Given the description of an element on the screen output the (x, y) to click on. 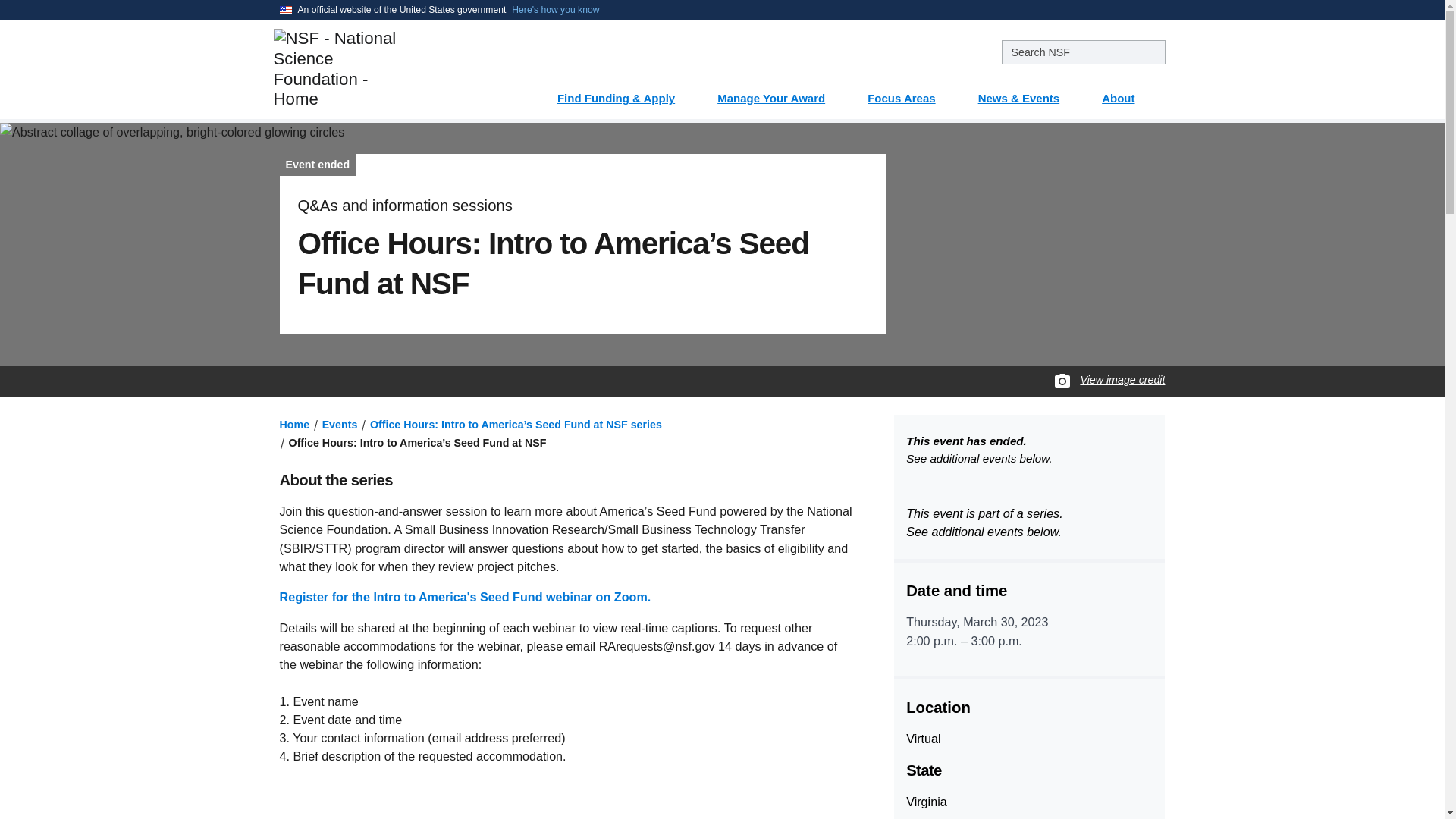
View image credit (1122, 380)
NSF - National Science Foundation - Home (385, 68)
search (1082, 52)
Focus Areas (910, 92)
Here's how you know (555, 9)
Home (293, 424)
Events (339, 424)
About (1126, 92)
